Given the description of an element on the screen output the (x, y) to click on. 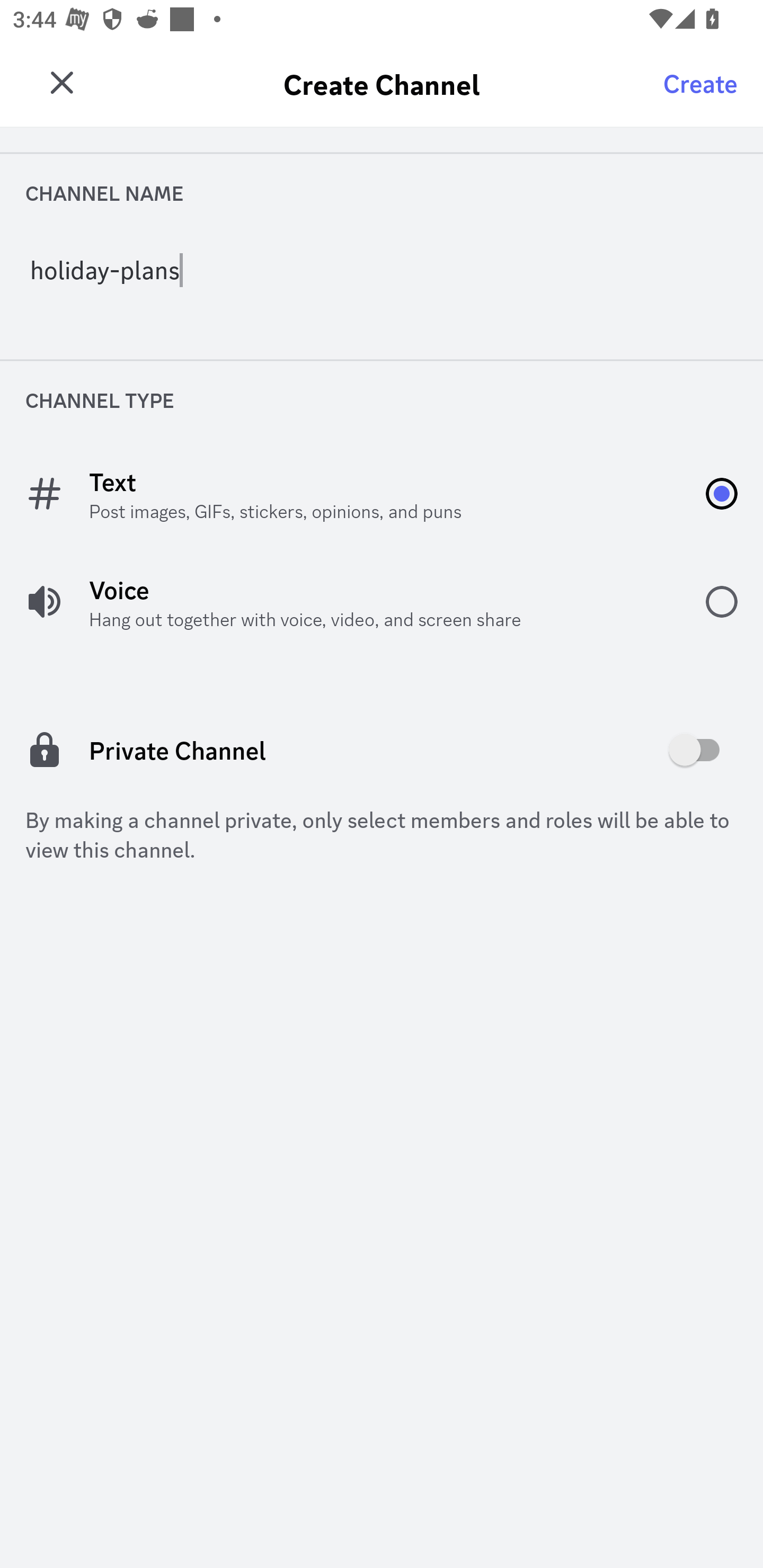
  Study Group SG (66, 75)
Create (700, 82)
holiday-plans Channel Name (381, 282)
off Private Channel Private Channel (381, 749)
